Given the description of an element on the screen output the (x, y) to click on. 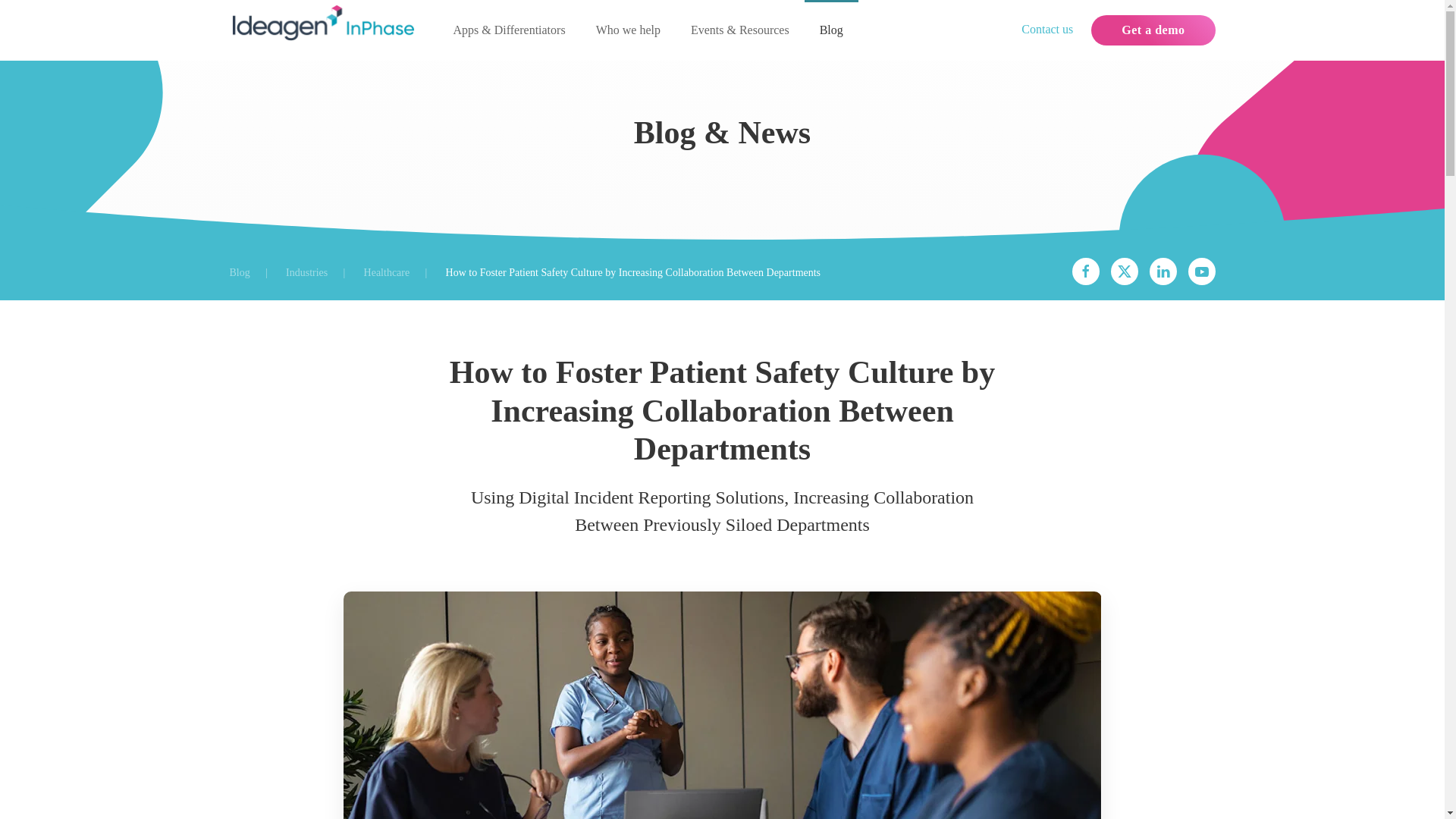
Healthcare (387, 272)
Industries (306, 272)
Who we help (627, 30)
Get a demo (1152, 30)
Contact us (1047, 29)
Blog (238, 272)
